Given the description of an element on the screen output the (x, y) to click on. 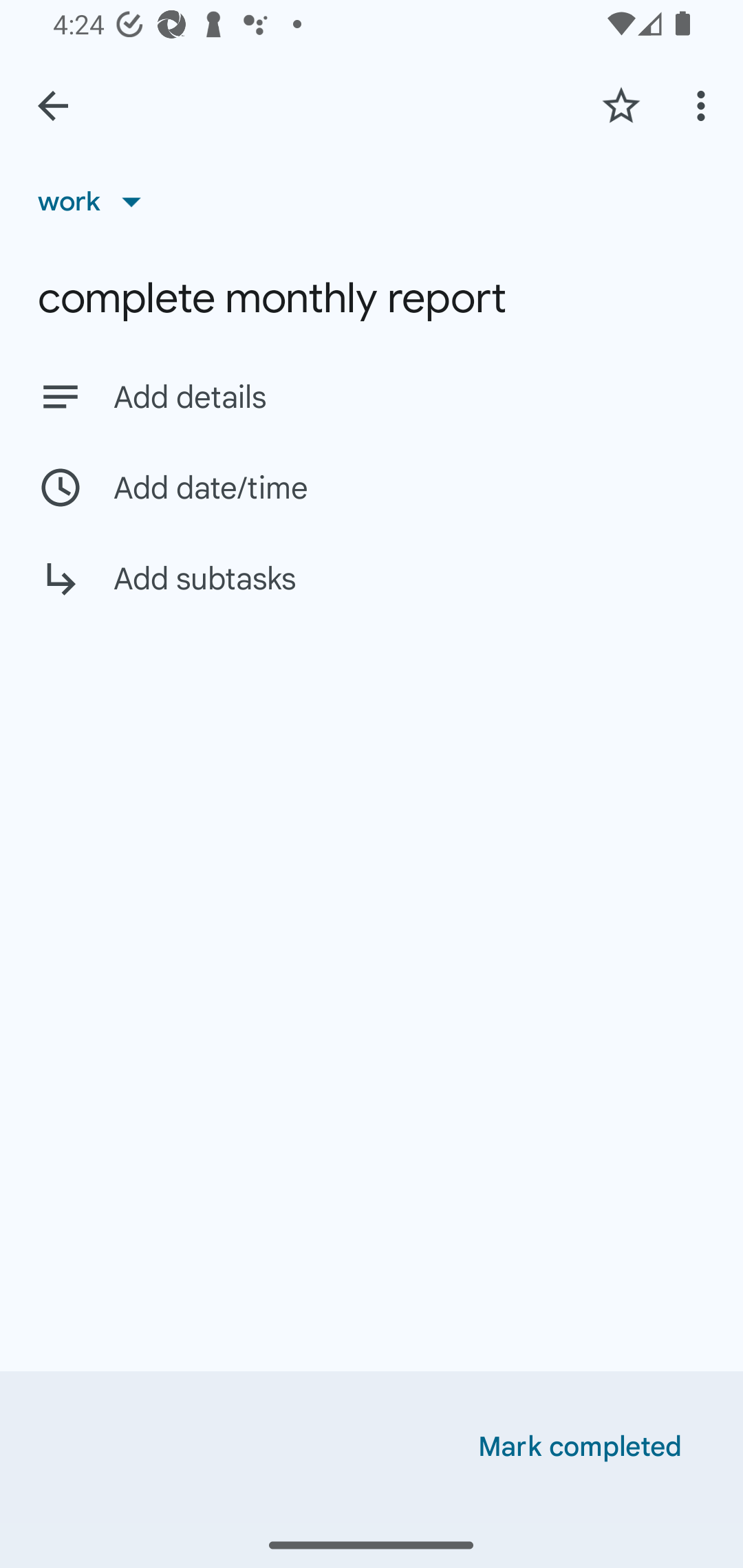
Back (53, 105)
Add star (620, 105)
More options (704, 105)
work List, work selected, 1 of 12 (95, 201)
complete monthly report (371, 298)
Add details (371, 396)
Add details (409, 397)
Add date/time (371, 487)
Add subtasks (371, 593)
Mark completed (580, 1446)
